Given the description of an element on the screen output the (x, y) to click on. 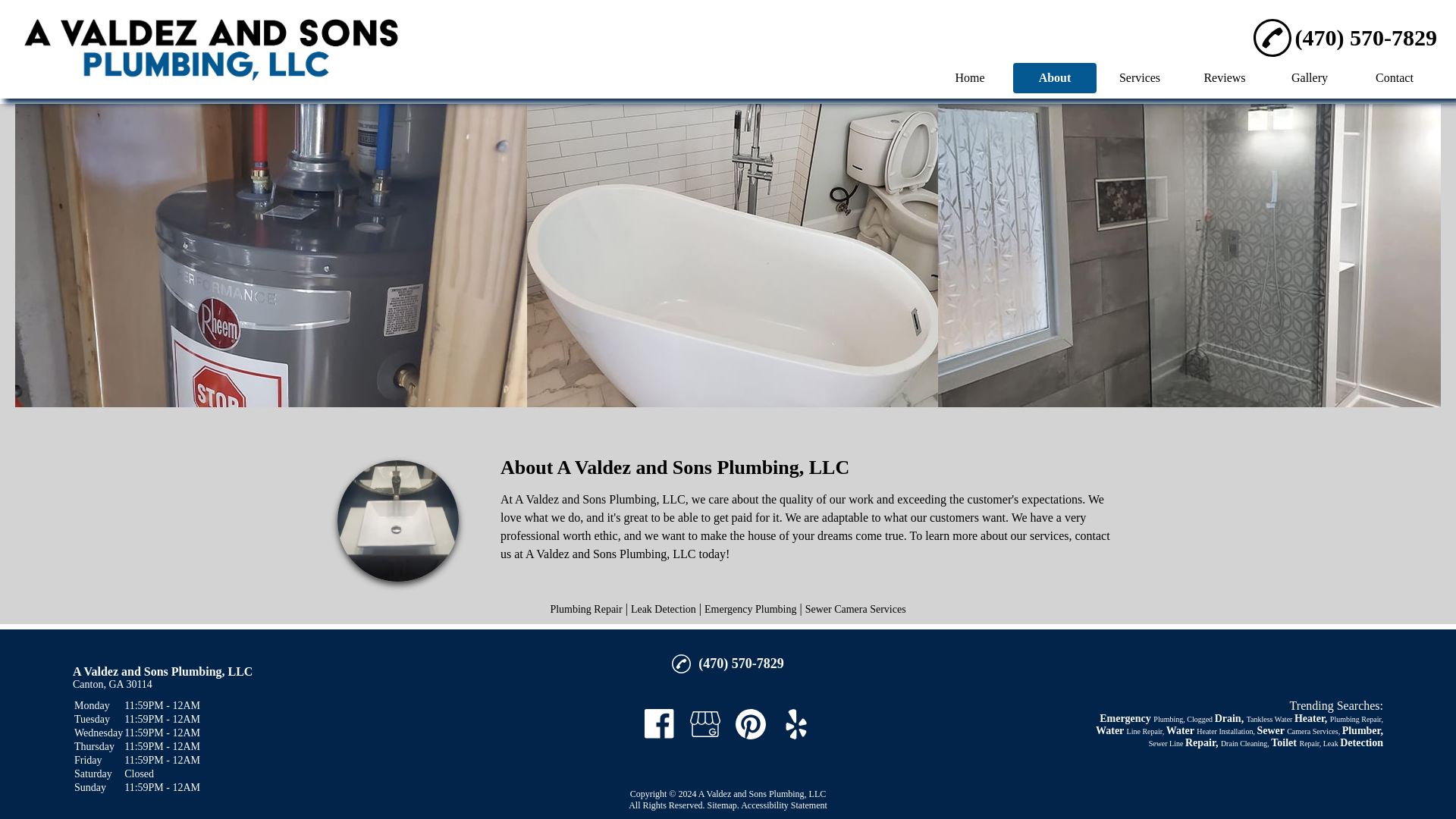
Sitemap. (721, 805)
Contact (1393, 77)
Emergency Plumbing (750, 609)
Gallery (1309, 77)
Reviews (1224, 77)
Home (969, 77)
Plumbing Repair (585, 609)
Leak Detection (662, 609)
Sewer Camera Services (855, 609)
About (1054, 77)
